Given the description of an element on the screen output the (x, y) to click on. 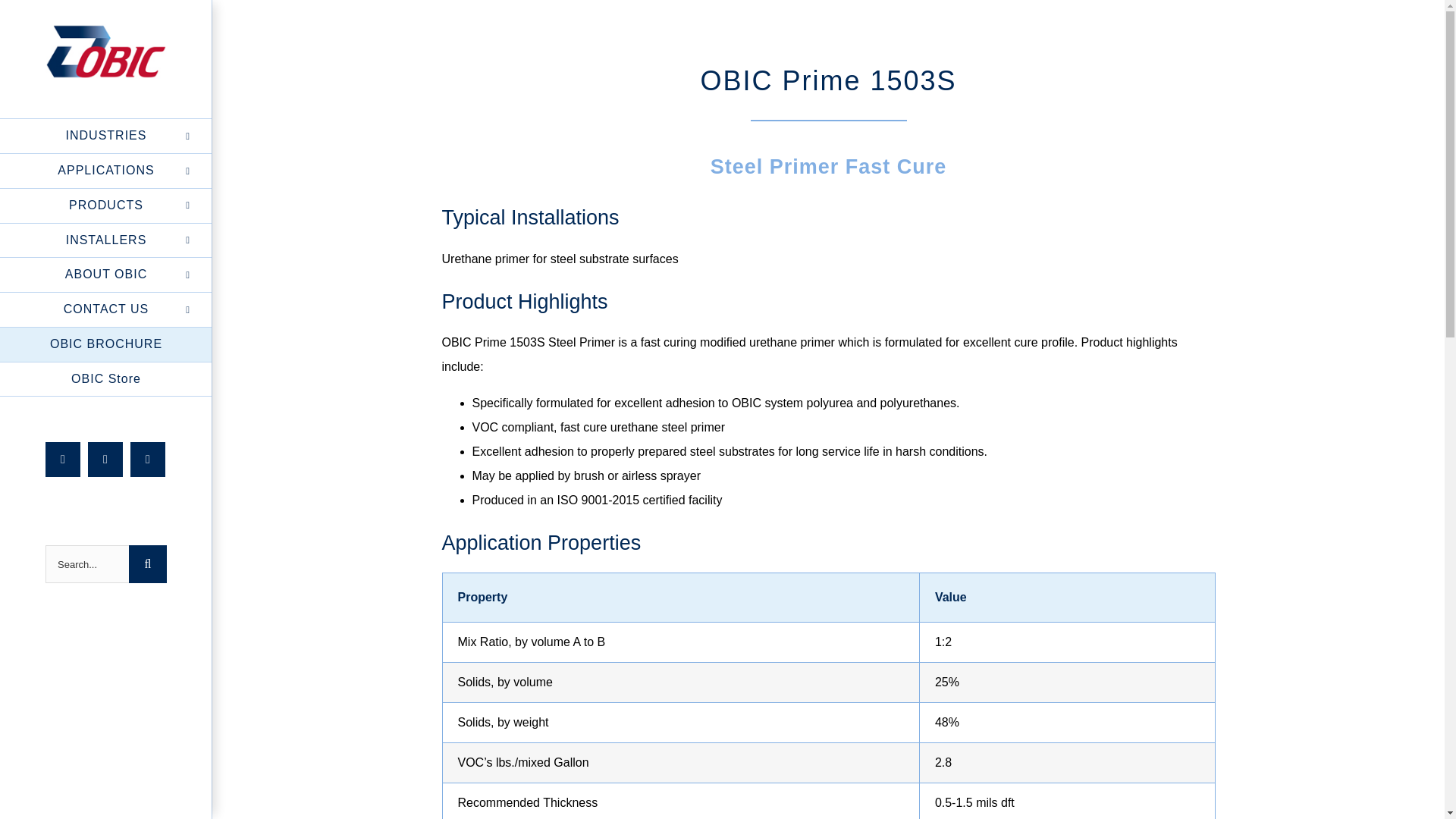
CONTACT US (106, 309)
APPLICATIONS (106, 171)
YouTube (148, 459)
INSTALLERS (106, 239)
Facebook (62, 459)
OBIC Store (106, 379)
PRODUCTS (106, 206)
OBIC BROCHURE (106, 344)
LinkedIn (104, 459)
ABOUT OBIC (106, 274)
INDUSTRIES (106, 135)
